Given the description of an element on the screen output the (x, y) to click on. 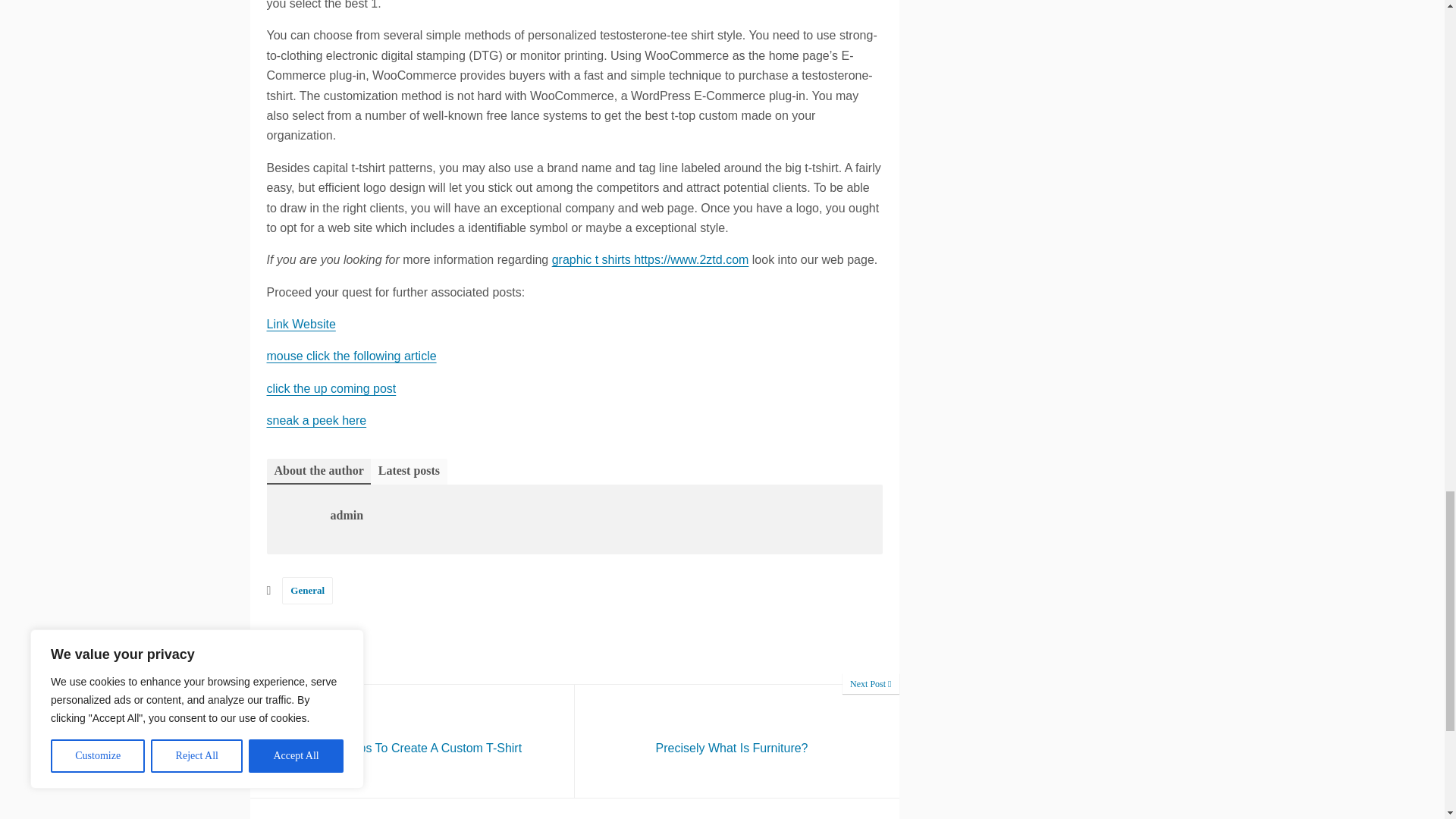
click the up coming post (331, 388)
Headlines (311, 647)
Steps To Create A Custom T-Shirt (412, 740)
Link Website (301, 323)
mouse click the following article (412, 740)
General (351, 355)
sneak a peek here (737, 740)
Precisely What Is Furniture? (307, 590)
